Given the description of an element on the screen output the (x, y) to click on. 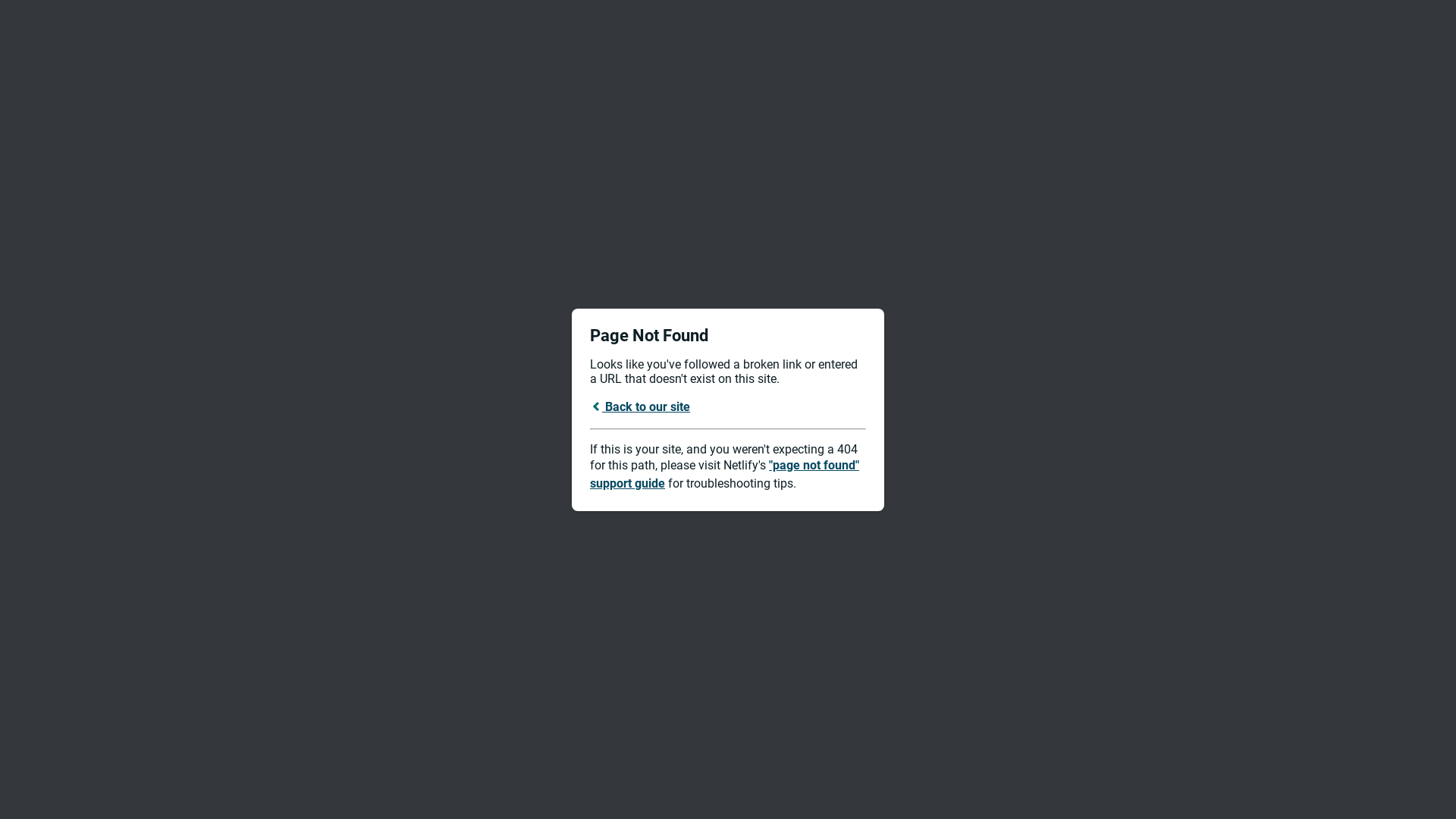
Back to our site Element type: text (639, 405)
"page not found" support guide Element type: text (724, 474)
